Given the description of an element on the screen output the (x, y) to click on. 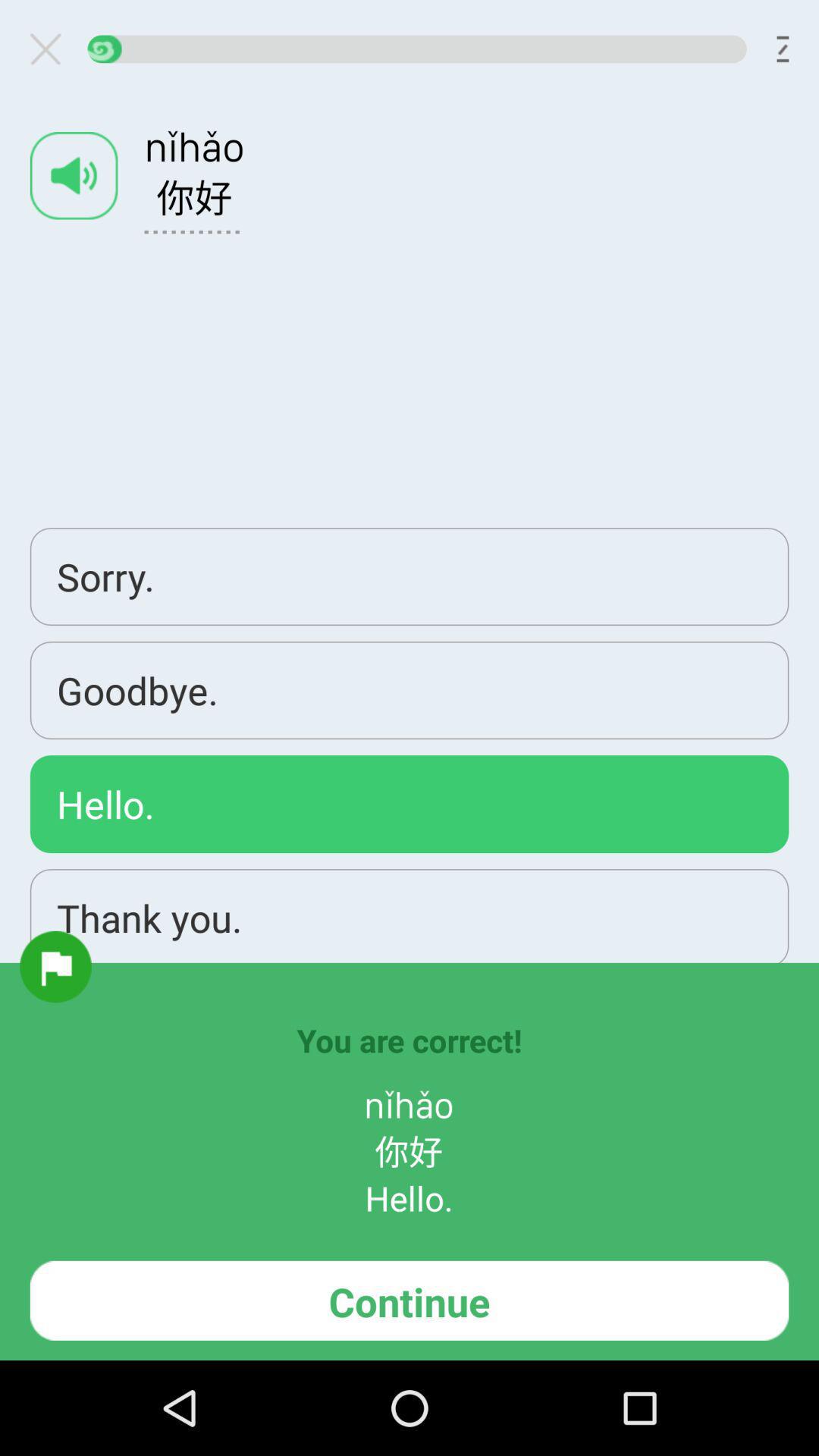
cancel sound selection (51, 49)
